Given the description of an element on the screen output the (x, y) to click on. 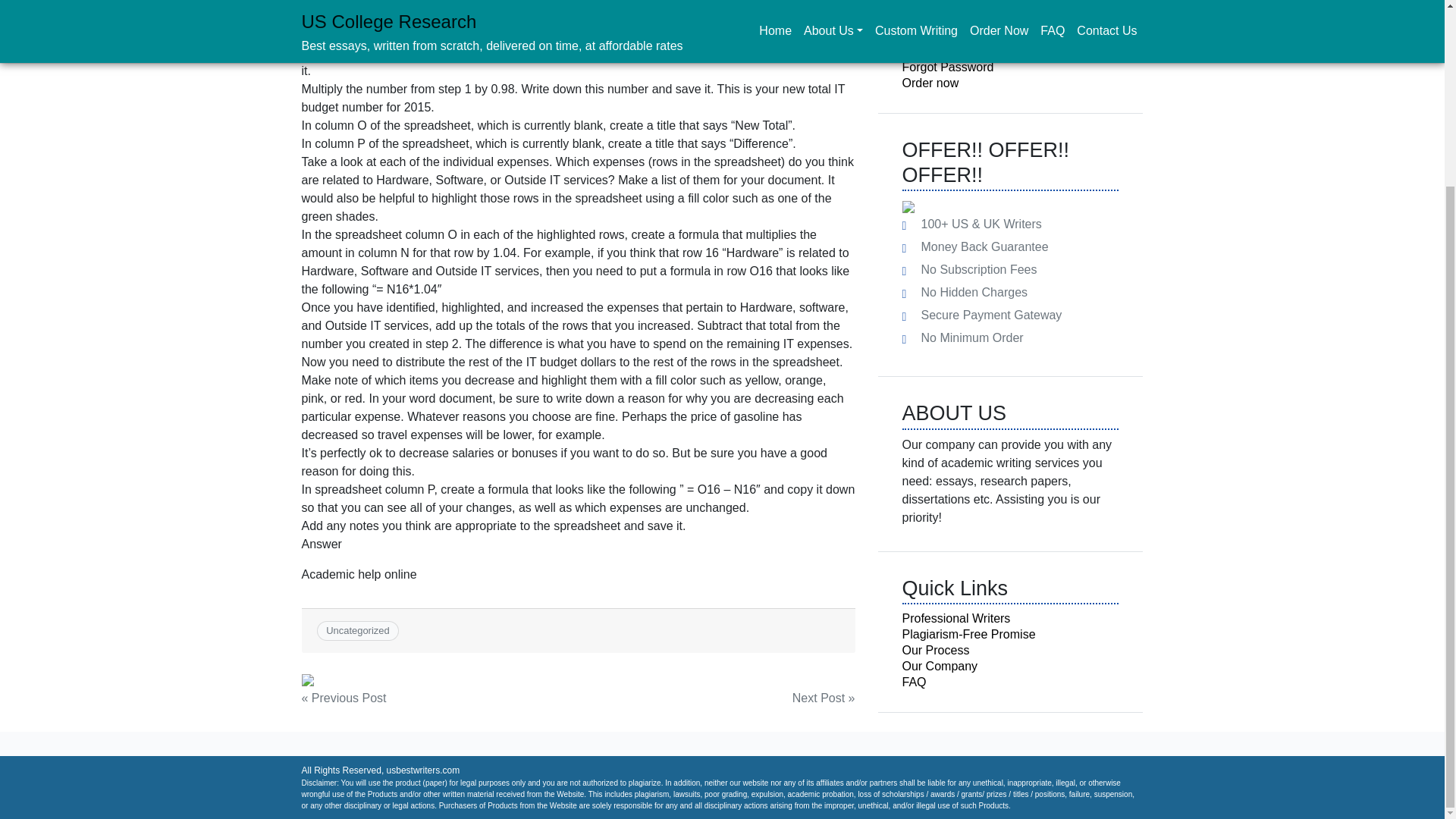
Login (934, 17)
Plagiarism-Free Promise (968, 634)
Professional Writers (956, 617)
Our Company (940, 666)
Login (934, 17)
Our Process (935, 649)
Forgot Password (948, 66)
FAQ (914, 681)
Order now (930, 82)
Uncategorized (358, 630)
